Given the description of an element on the screen output the (x, y) to click on. 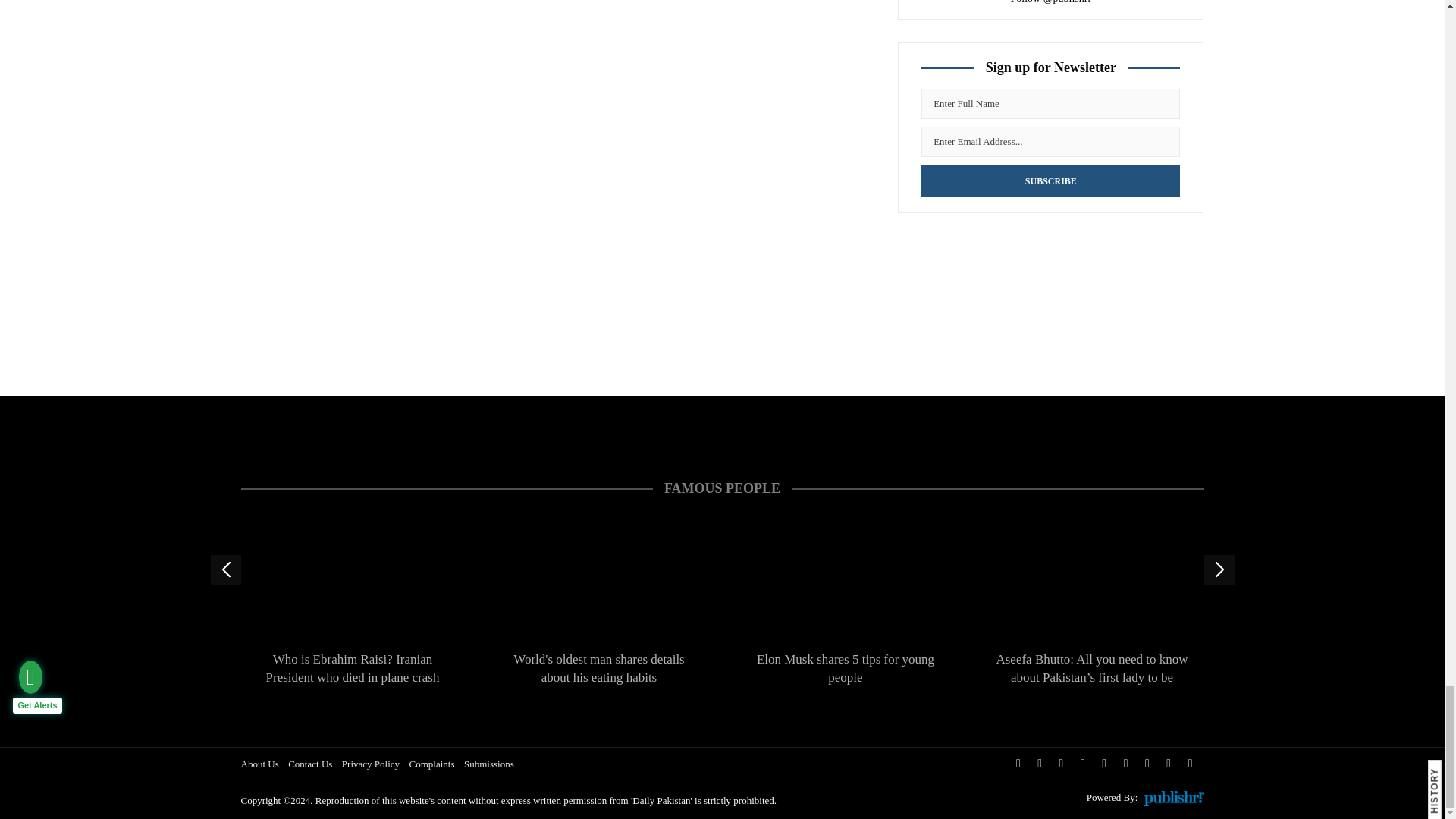
Subscribe (1050, 180)
